Given the description of an element on the screen output the (x, y) to click on. 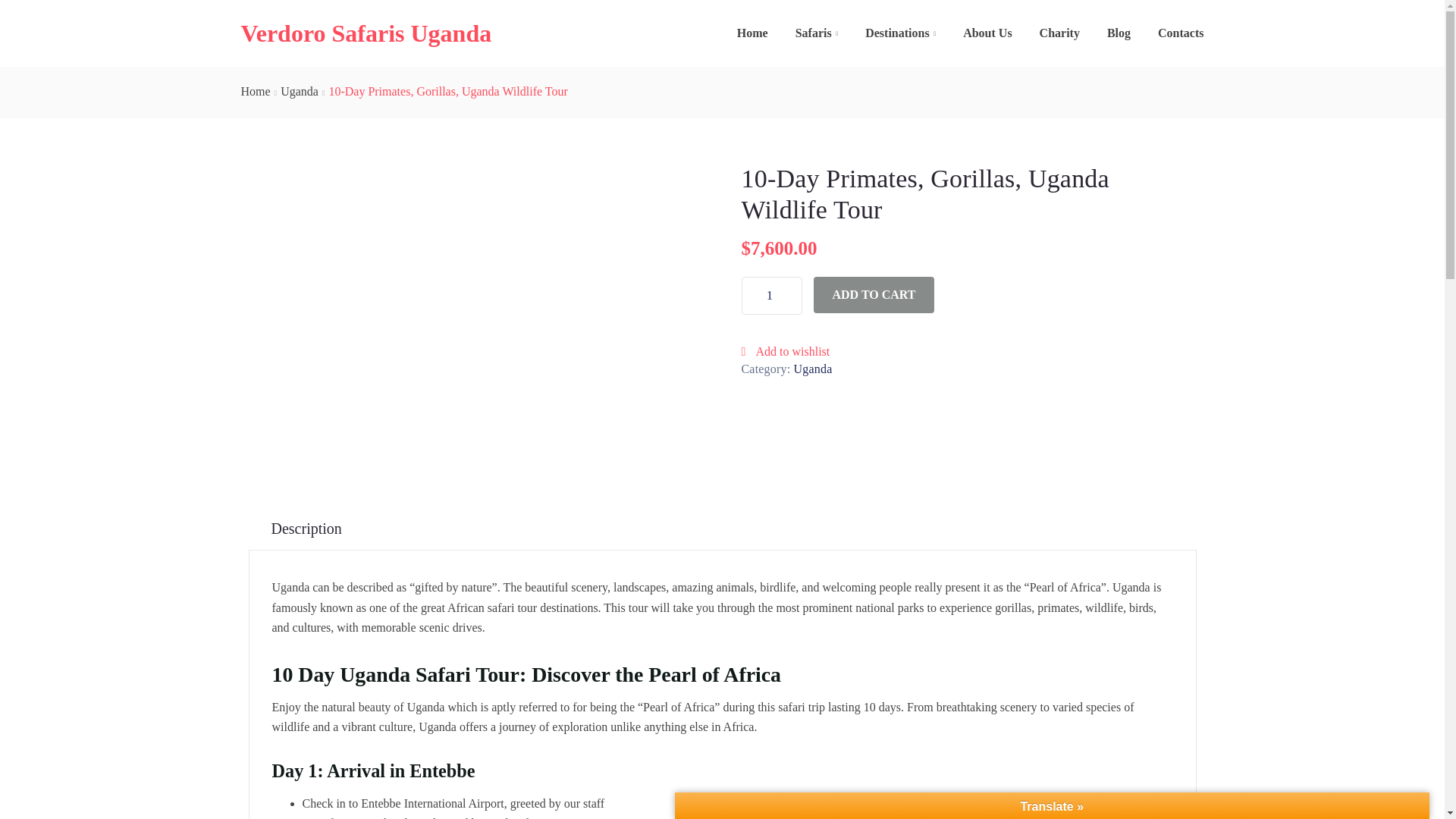
Safaris (816, 33)
Charity (1059, 33)
About Us (986, 33)
Contacts (1174, 33)
Add to wishlist (785, 350)
Verdoro Safaris Uganda (366, 37)
Uganda (299, 91)
Description (306, 527)
Destinations (900, 33)
Home (752, 33)
